Given the description of an element on the screen output the (x, y) to click on. 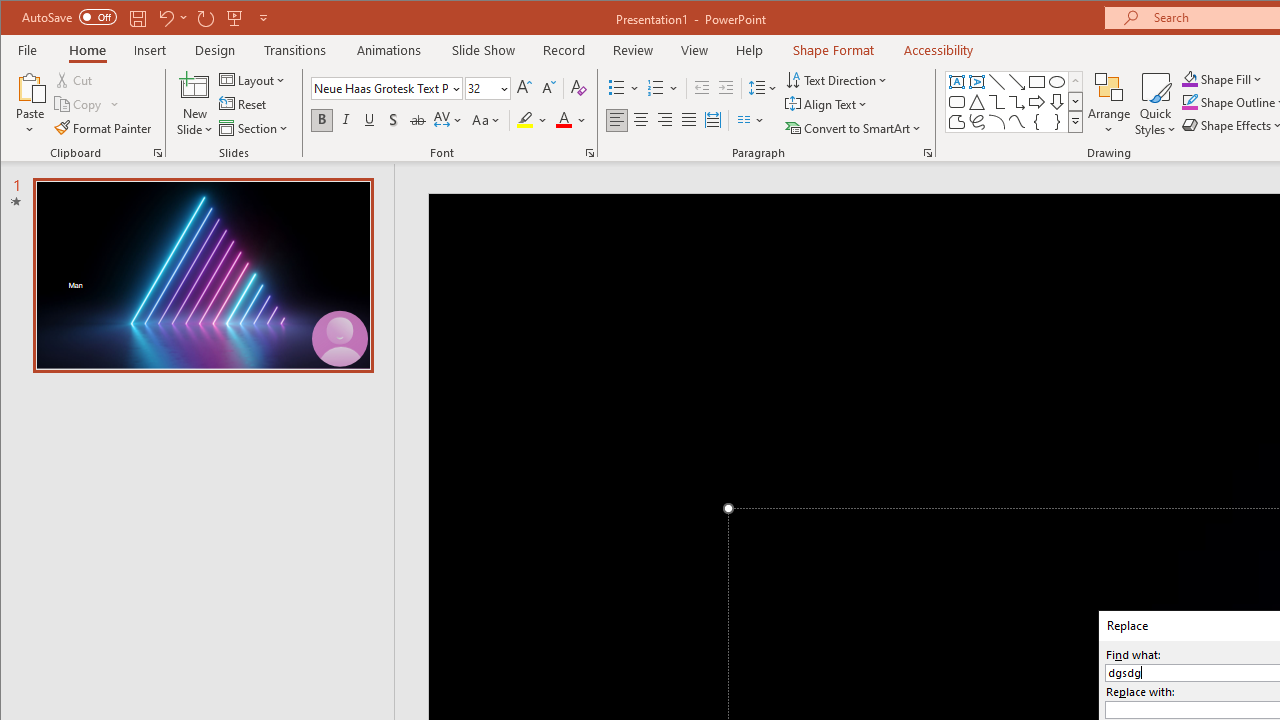
Shape Fill Orange, Accent 2 (1189, 78)
